Given the description of an element on the screen output the (x, y) to click on. 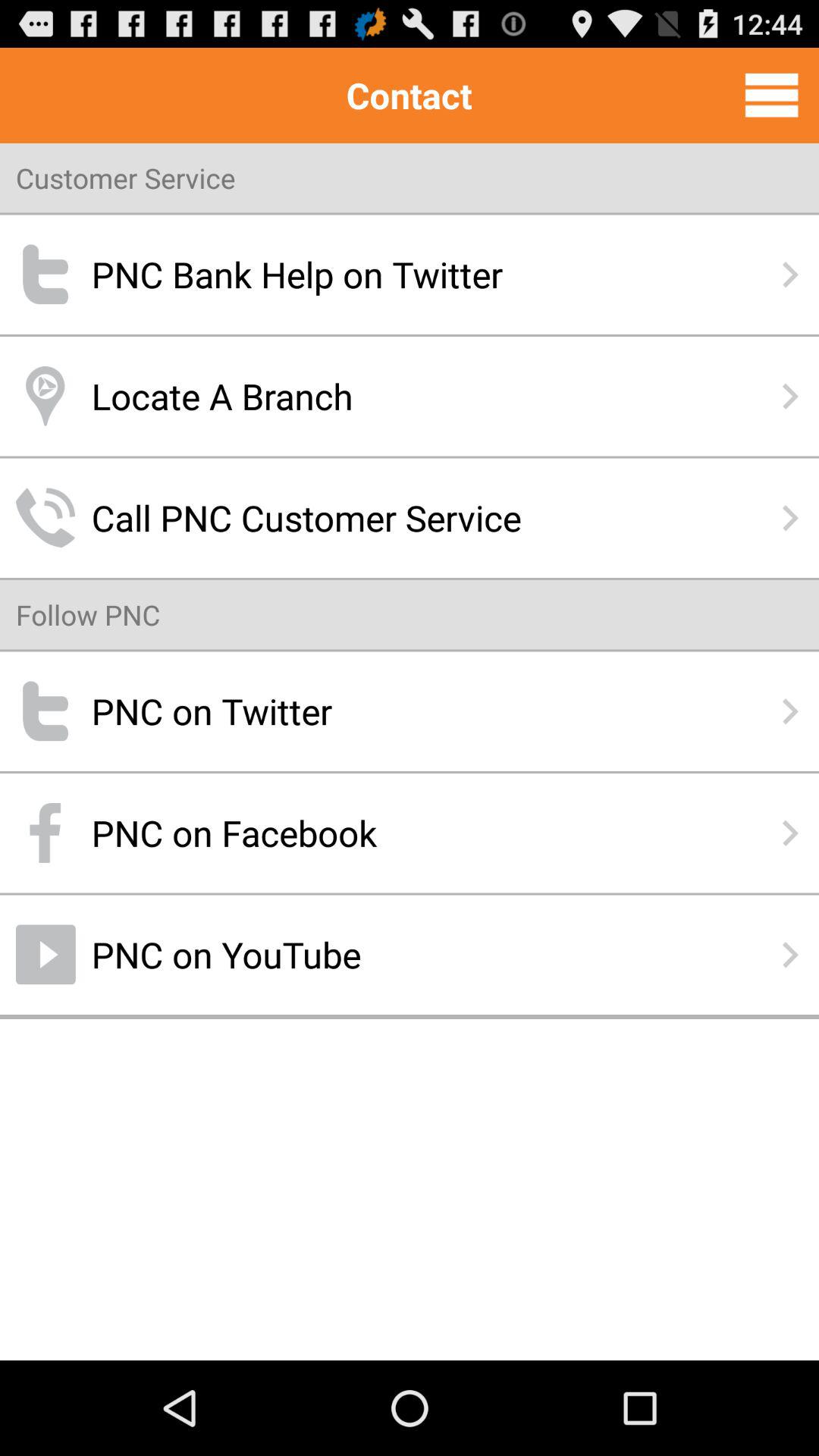
click the icon on the left (87, 614)
